Given the description of an element on the screen output the (x, y) to click on. 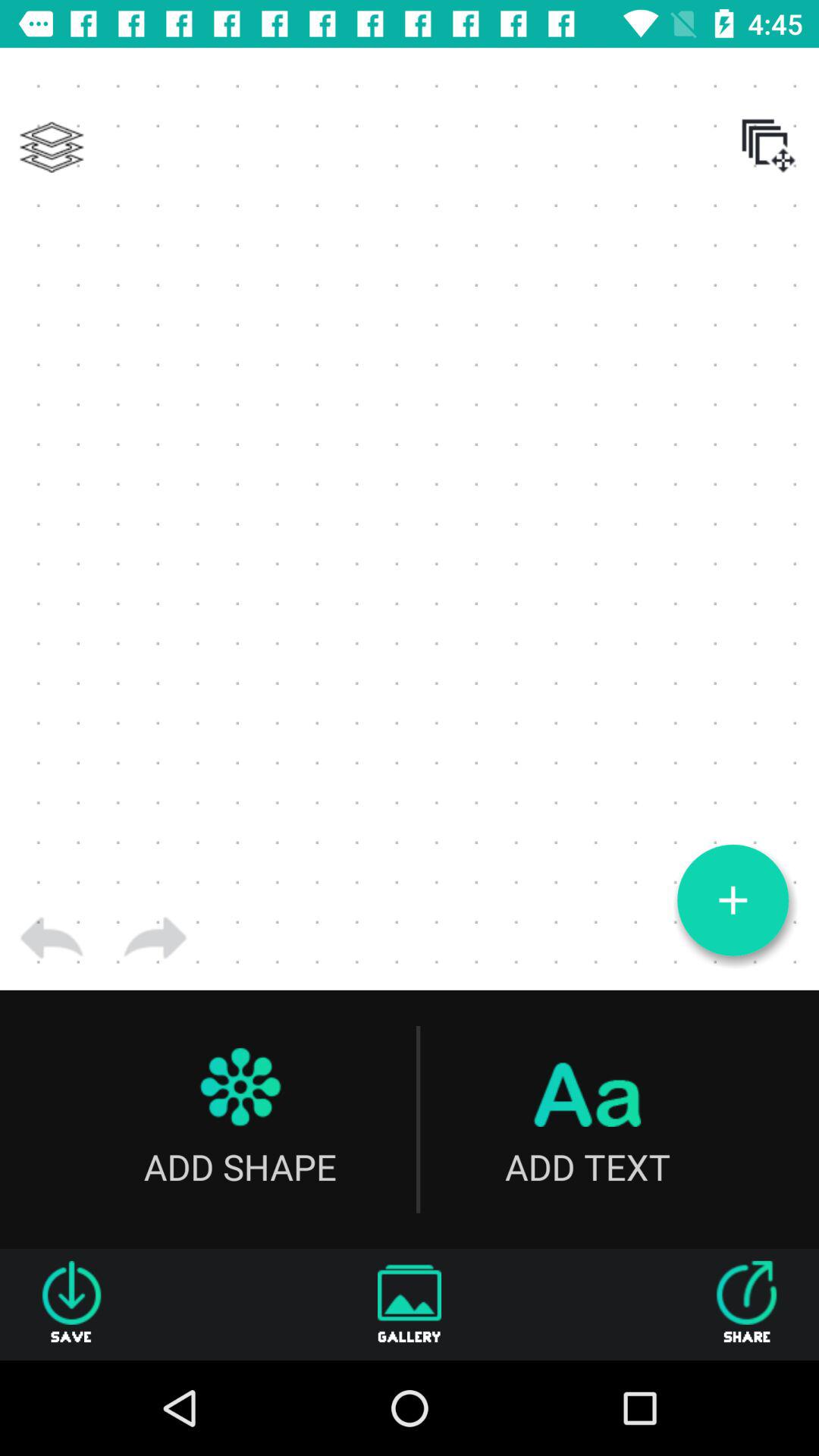
click the icon to the left of the gallery (71, 1304)
